Given the description of an element on the screen output the (x, y) to click on. 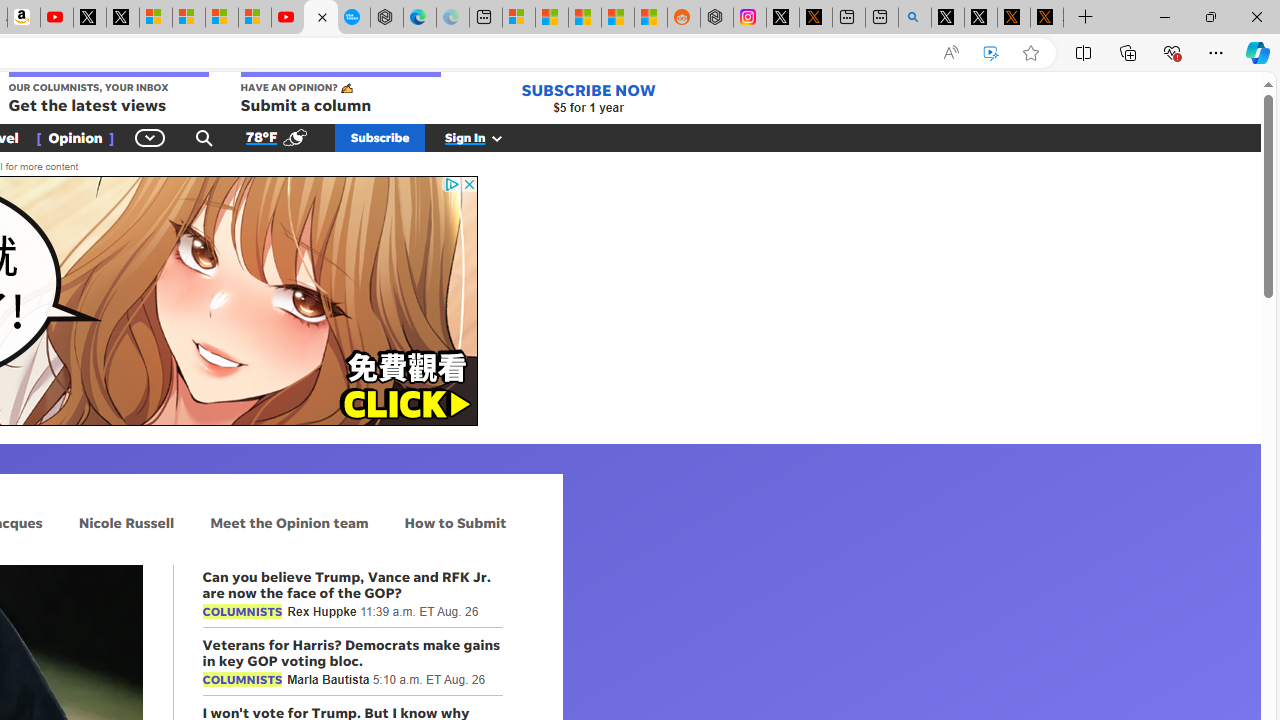
SUBSCRIBE NOW $5 for 1 year (588, 97)
Global Navigation (150, 137)
Nicole Russell (125, 521)
OUR COLUMNISTS, YOUR INBOX Get the latest views (107, 94)
The most popular Google 'how to' searches (353, 17)
Nordace - Nordace has arrived Hong Kong (387, 17)
help.x.com | 524: A timeout occurred (815, 17)
